Given the description of an element on the screen output the (x, y) to click on. 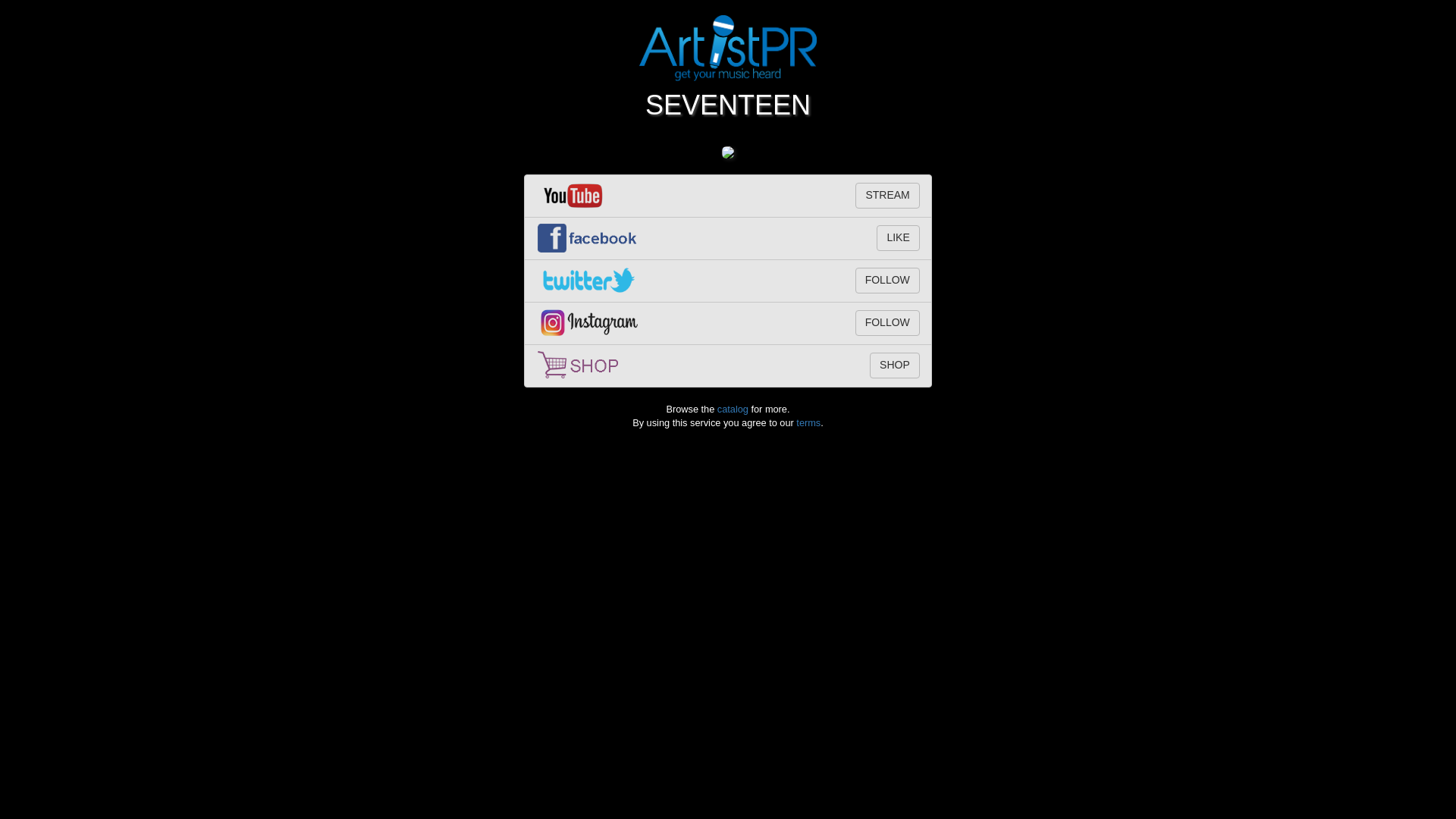
catalog (732, 408)
FOLLOW (888, 280)
STREAM (887, 195)
terms (808, 422)
SHOP (894, 365)
FOLLOW (888, 322)
LIKE (897, 237)
